Given the description of an element on the screen output the (x, y) to click on. 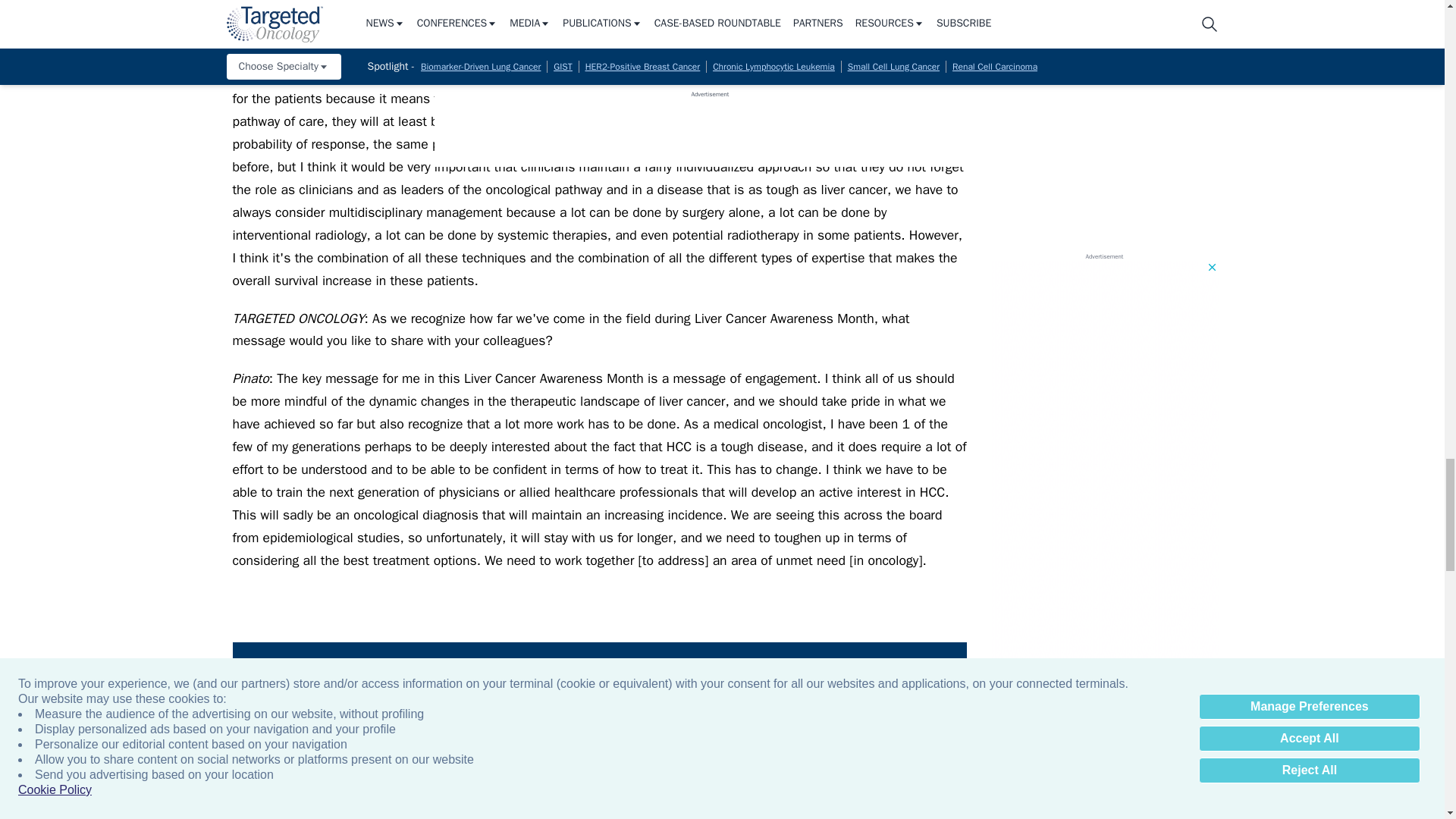
Discussing Treatment Options for Patients With HCC (1163, 743)
What Will Be the Next Frontline Therapy for HCC? (1326, 743)
Unpacking the EMERALD-1 Treatment Approach for HCC (835, 743)
